Given the description of an element on the screen output the (x, y) to click on. 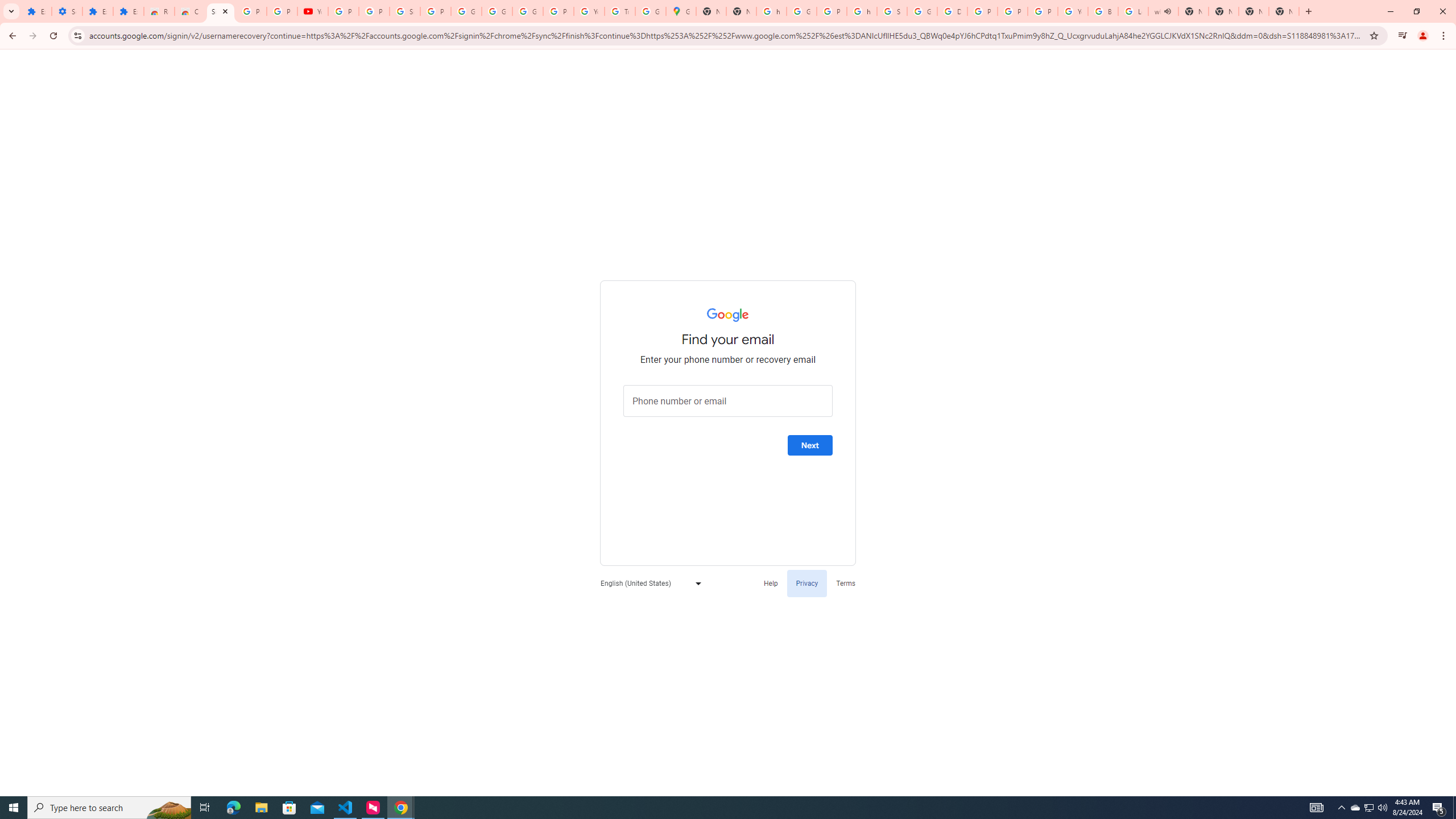
Extensions (127, 11)
https://scholar.google.com/ (771, 11)
Phone number or email (727, 400)
